Given the description of an element on the screen output the (x, y) to click on. 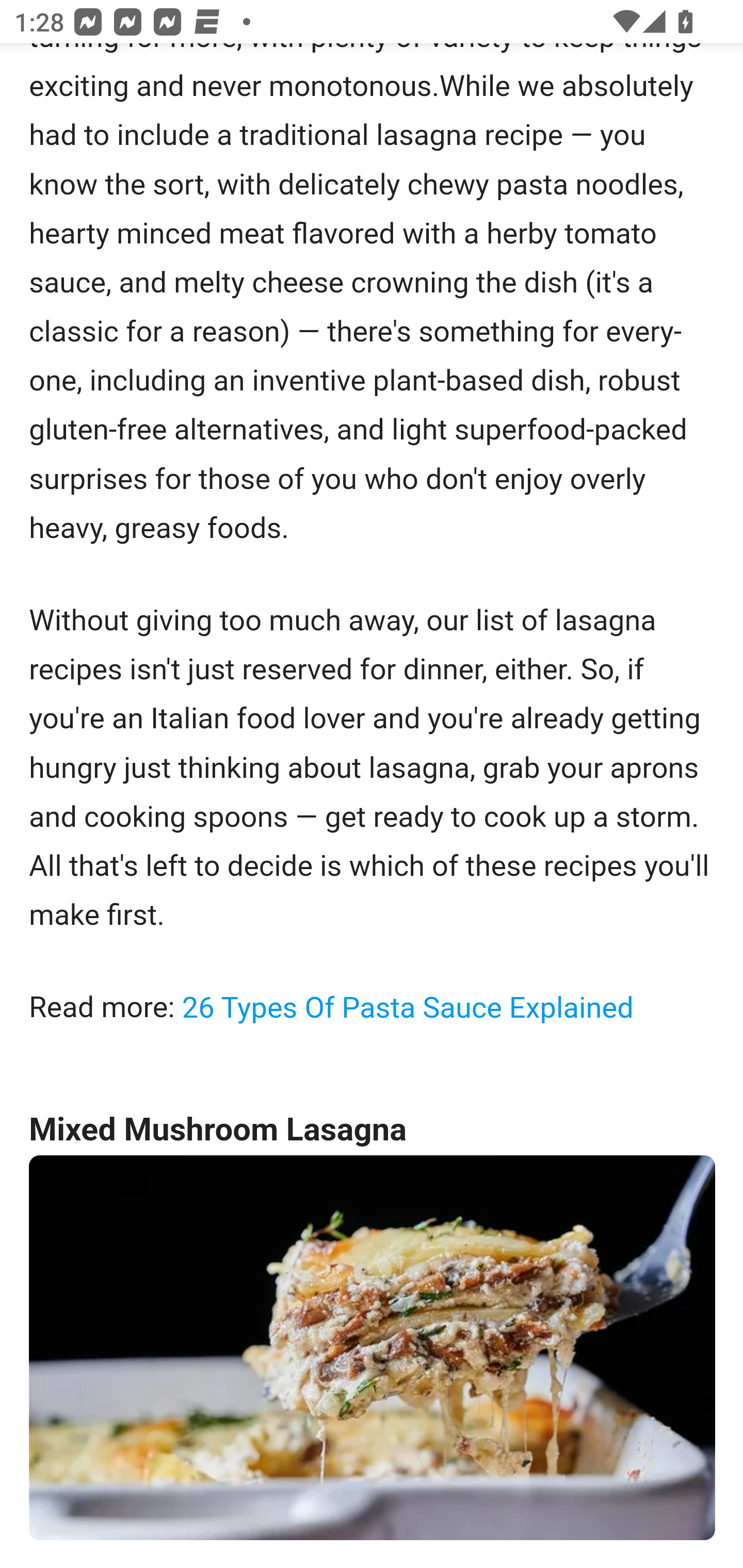
26 Types Of Pasta Sauce Explained (406, 1006)
